Given the description of an element on the screen output the (x, y) to click on. 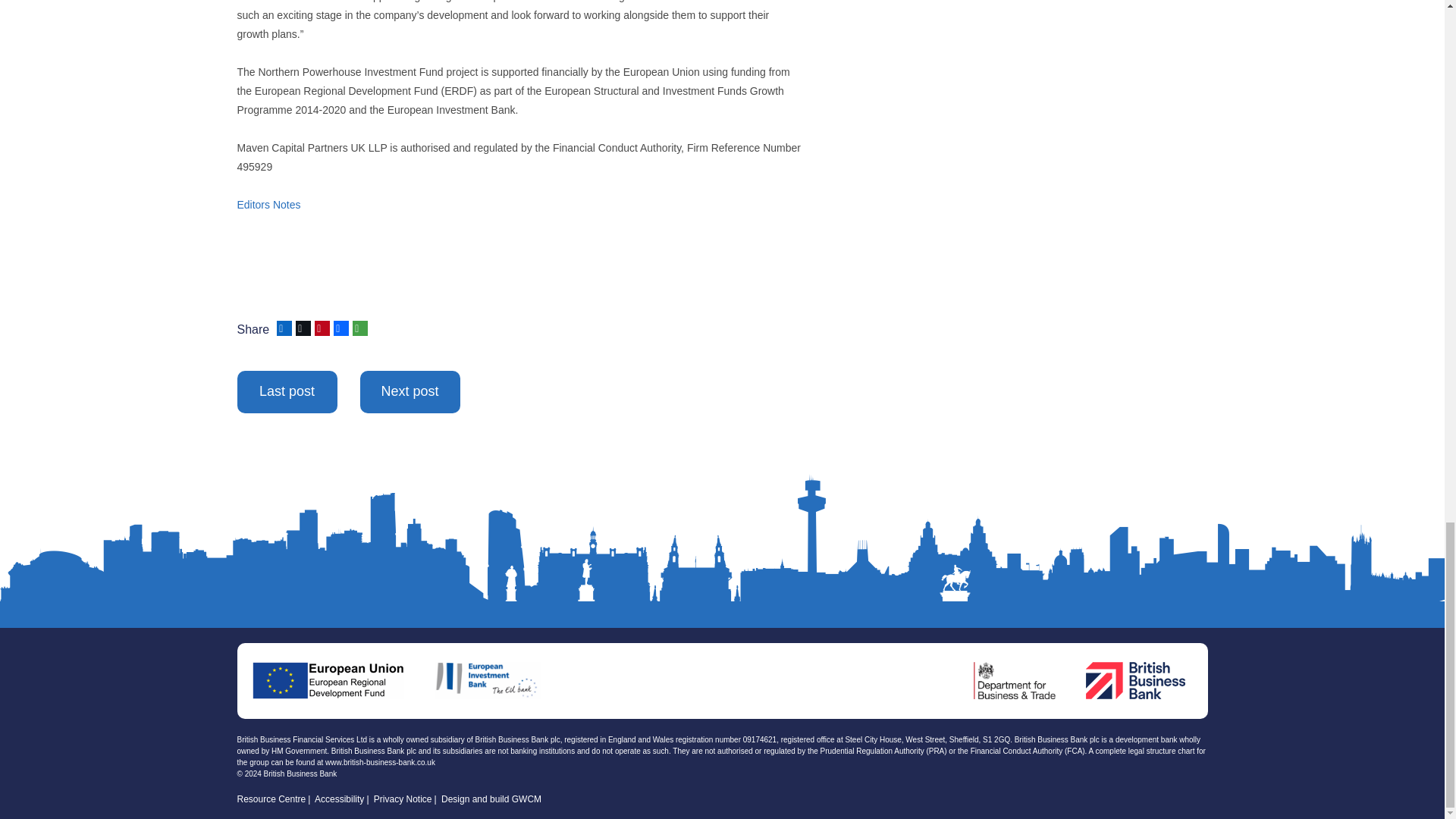
LinkedIn (282, 328)
Pinterest (320, 328)
More Options (358, 328)
Facebook (339, 328)
